Given the description of an element on the screen output the (x, y) to click on. 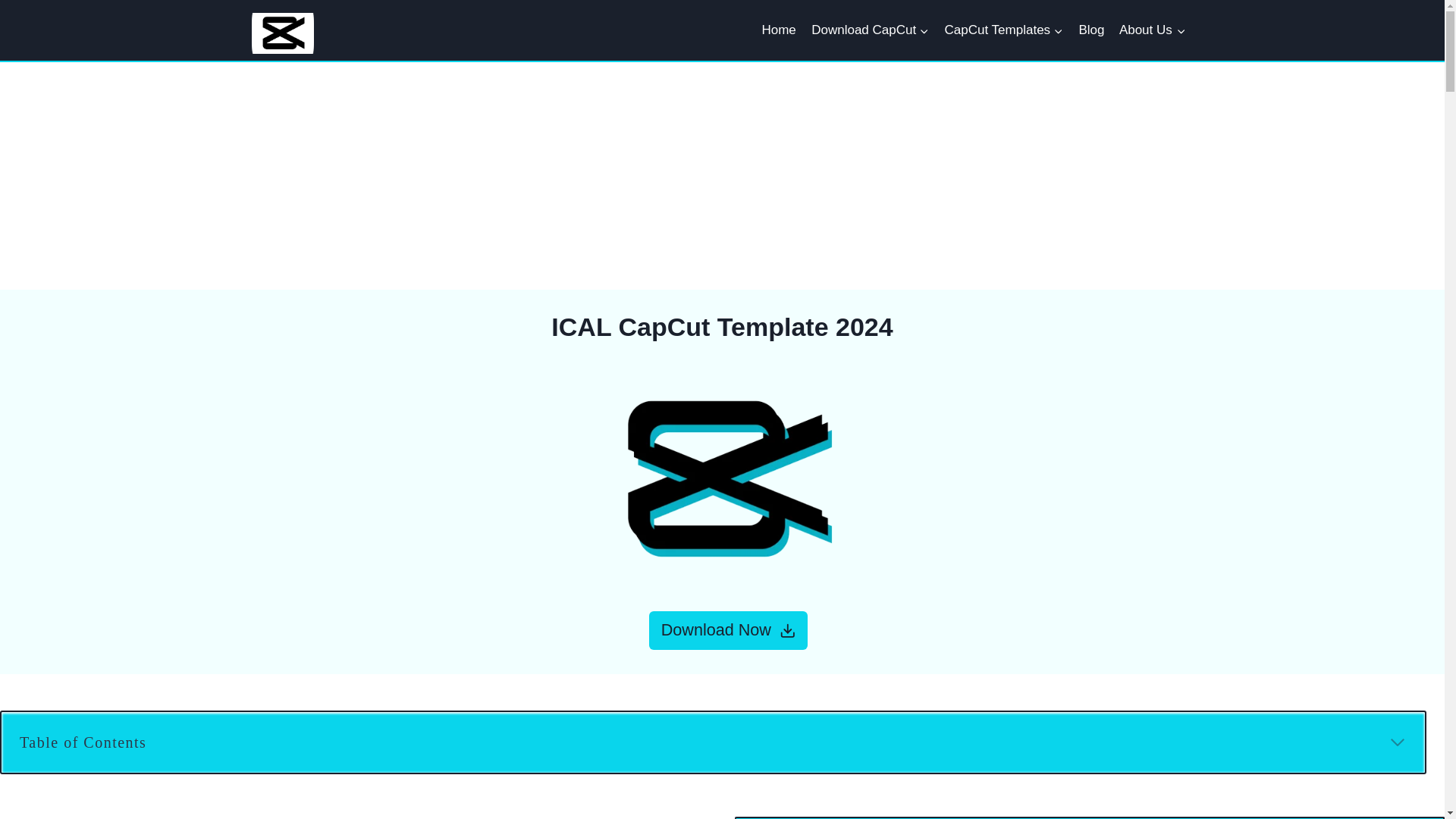
ICAL CapCut Template 2024 1 (721, 478)
CapCut Templates (1003, 30)
Download Now (728, 630)
Download CapCut (869, 30)
Home (778, 30)
Blog (1091, 30)
About Us (1152, 30)
